Given the description of an element on the screen output the (x, y) to click on. 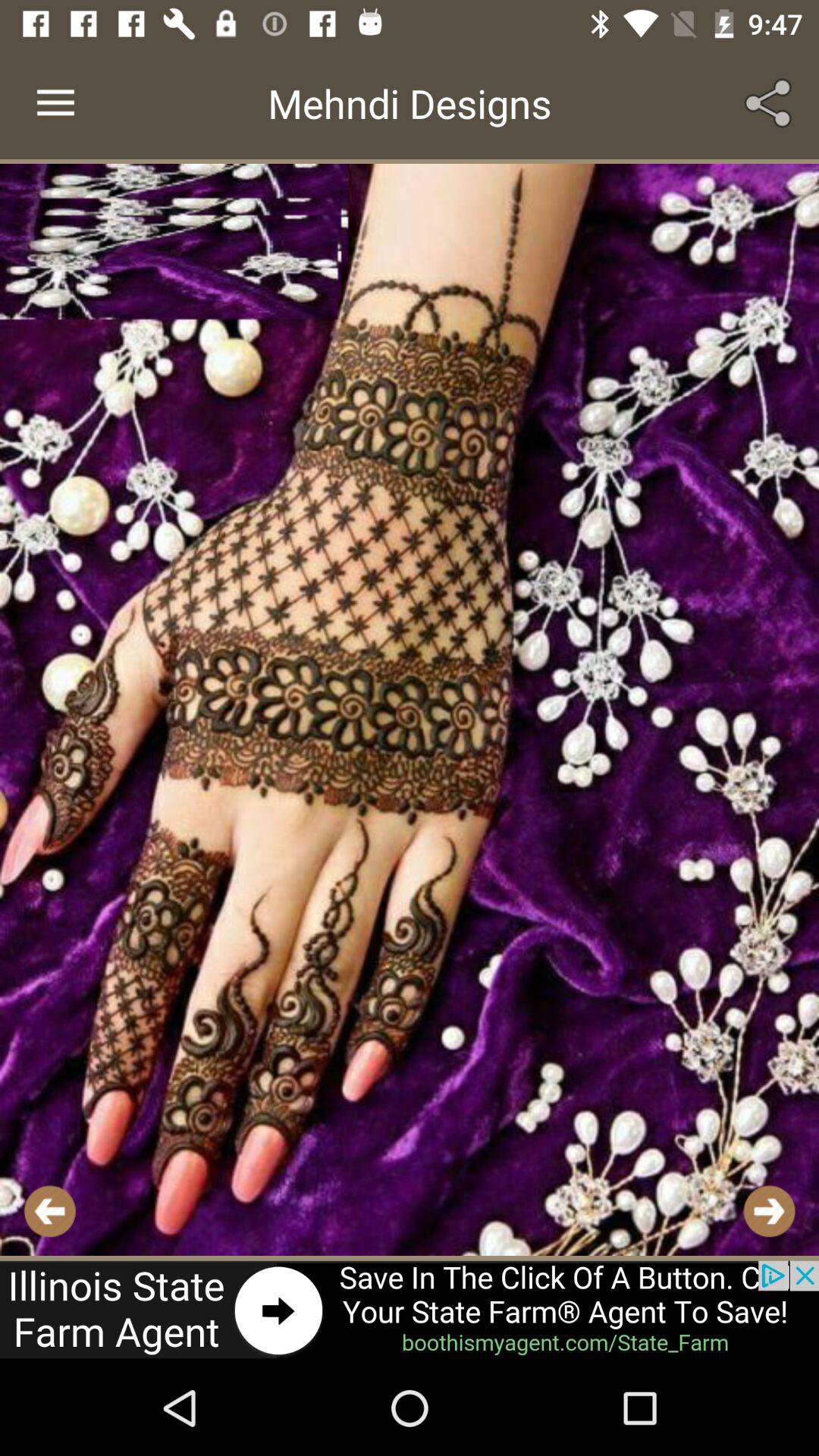
go to website (409, 1310)
